Given the description of an element on the screen output the (x, y) to click on. 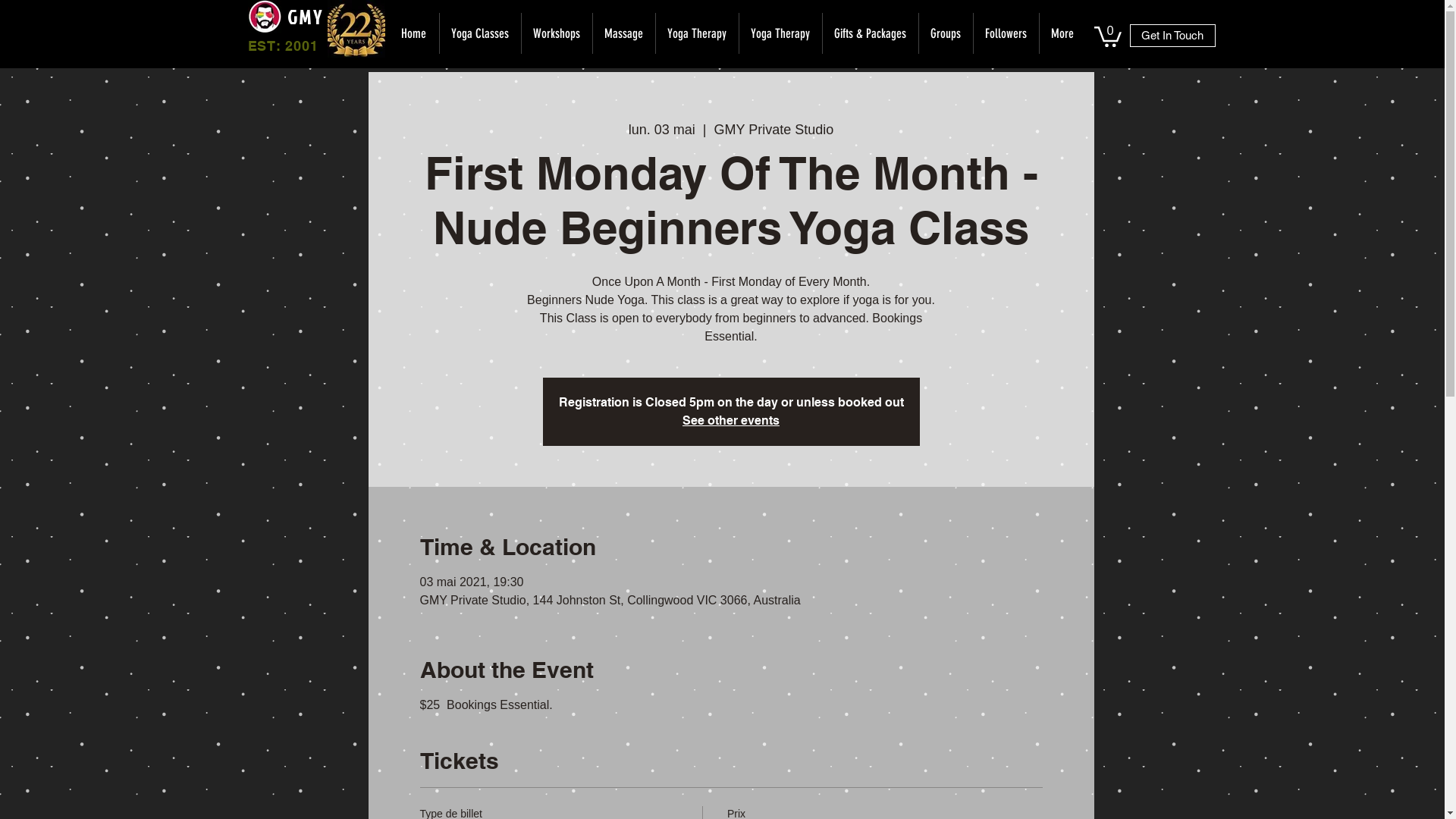
GMY Element type: text (304, 16)
www.gaymensyoga.com.au Element type: hover (356, 28)
Home Element type: text (414, 32)
Massage Element type: text (622, 32)
Yoga Classes Element type: text (479, 32)
www.gaymensyoga.com.au Element type: hover (263, 16)
Groups Element type: text (944, 32)
Yoga Therapy Element type: text (696, 32)
0 Element type: text (1106, 35)
Workshops Element type: text (555, 32)
See other events Element type: text (730, 420)
Yoga Therapy Element type: text (780, 32)
Get In Touch Element type: text (1172, 35)
Gifts & Packages Element type: text (870, 32)
Followers Element type: text (1005, 32)
